Given the description of an element on the screen output the (x, y) to click on. 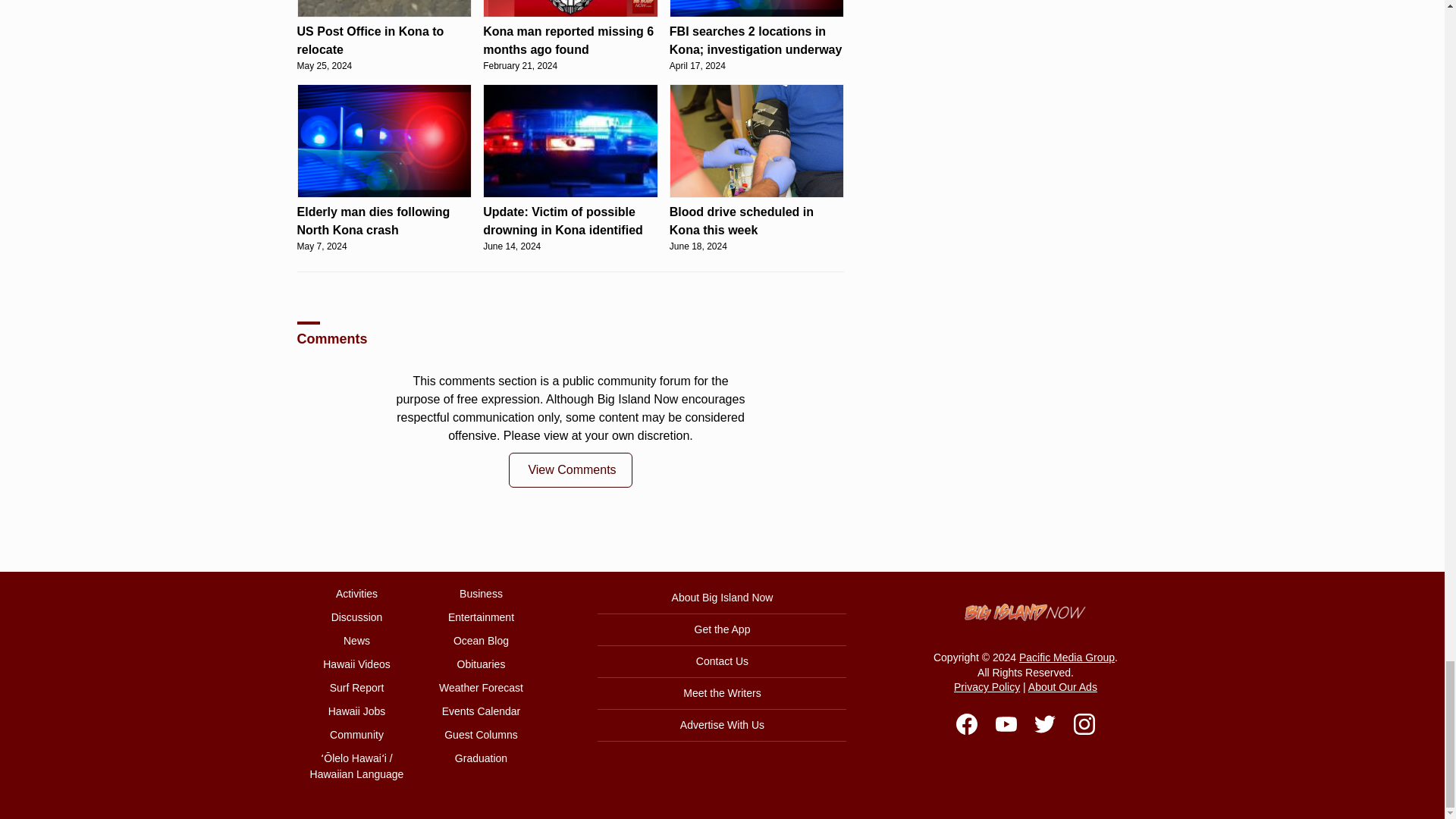
YouTube (1005, 723)
Twitter (1044, 723)
Facebook (966, 723)
Instagram (1084, 723)
